Given the description of an element on the screen output the (x, y) to click on. 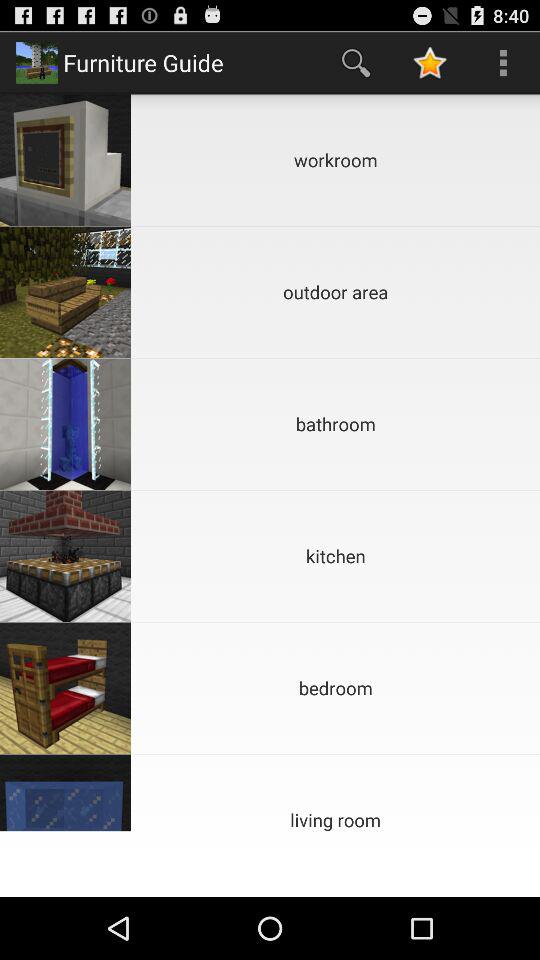
turn on app next to the furniture guide item (356, 62)
